Given the description of an element on the screen output the (x, y) to click on. 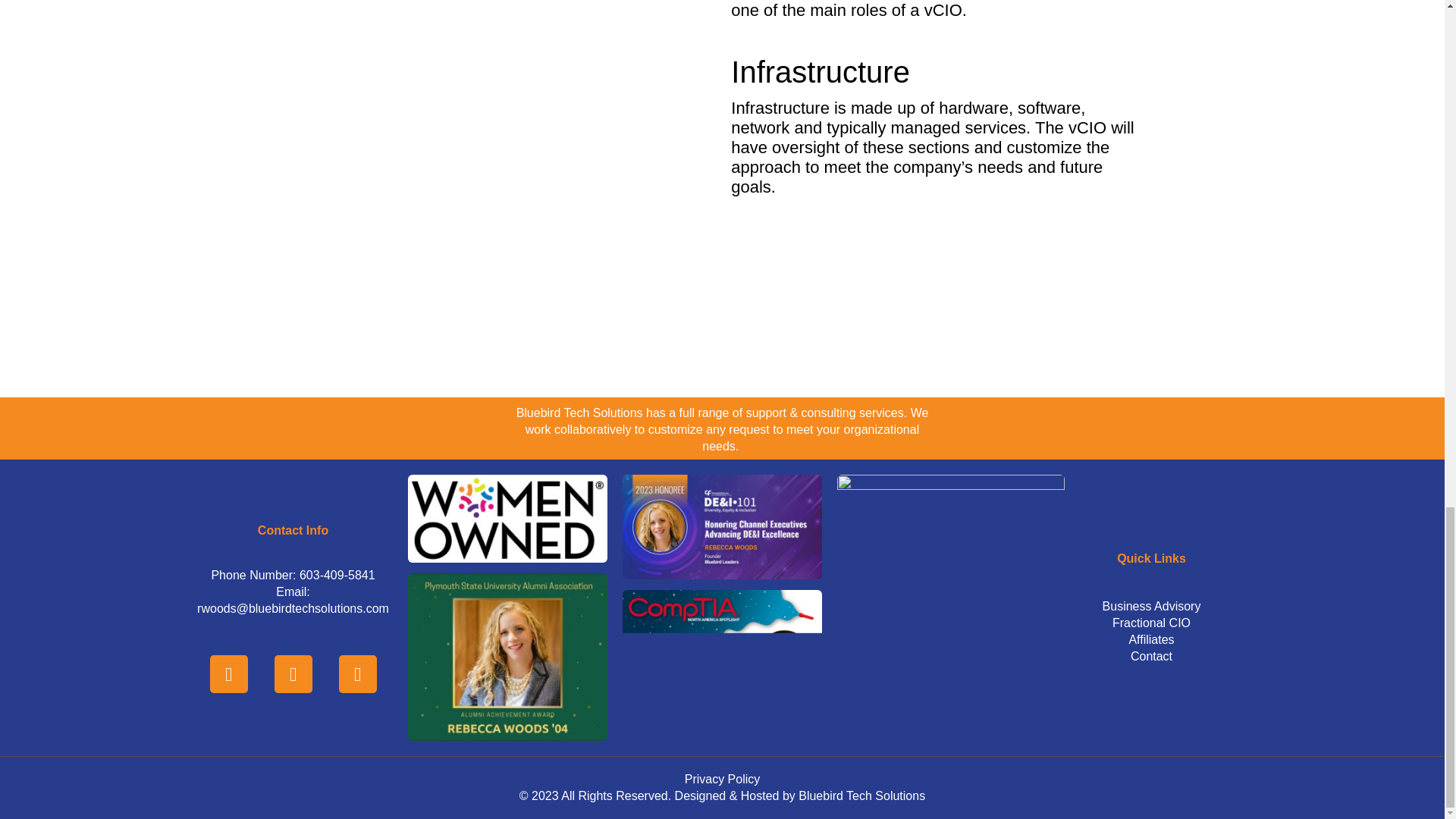
Fractional CIO (1150, 623)
Contact (1150, 656)
Privacy Policy (722, 779)
Affiliates (1150, 639)
Business Advisory (1150, 606)
